Given the description of an element on the screen output the (x, y) to click on. 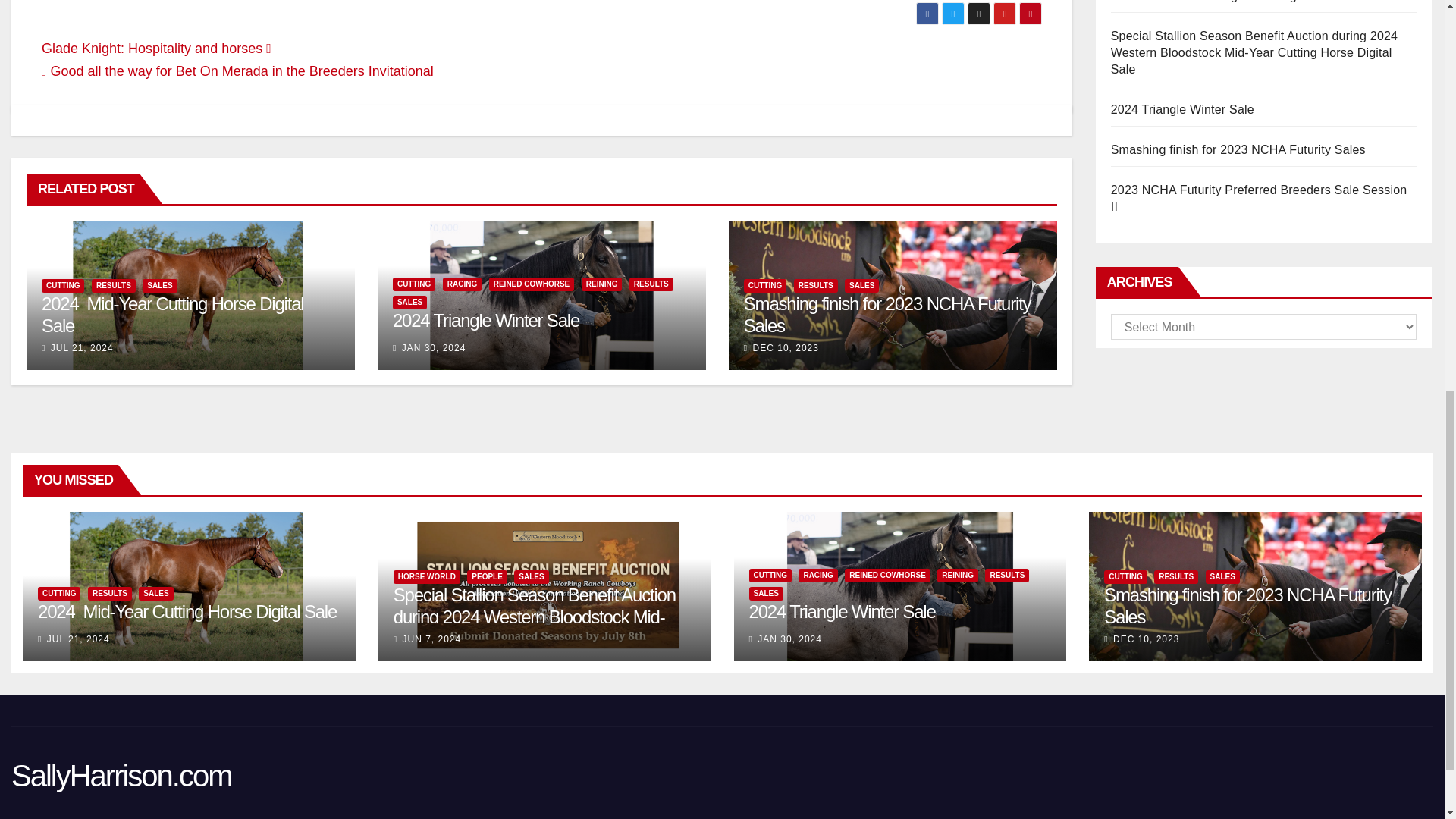
DEC 10, 2023 (785, 347)
SALES (159, 285)
Smashing finish for 2023 NCHA Futurity Sales (887, 314)
REINED COWHORSE (532, 284)
Permalink to: 2024 Triangle Winter Sale (486, 320)
Glade Knight: Hospitality and horses (156, 48)
2024  Mid-Year Cutting Horse Digital Sale (172, 314)
CUTTING (765, 285)
JAN 30, 2024 (433, 347)
